Given the description of an element on the screen output the (x, y) to click on. 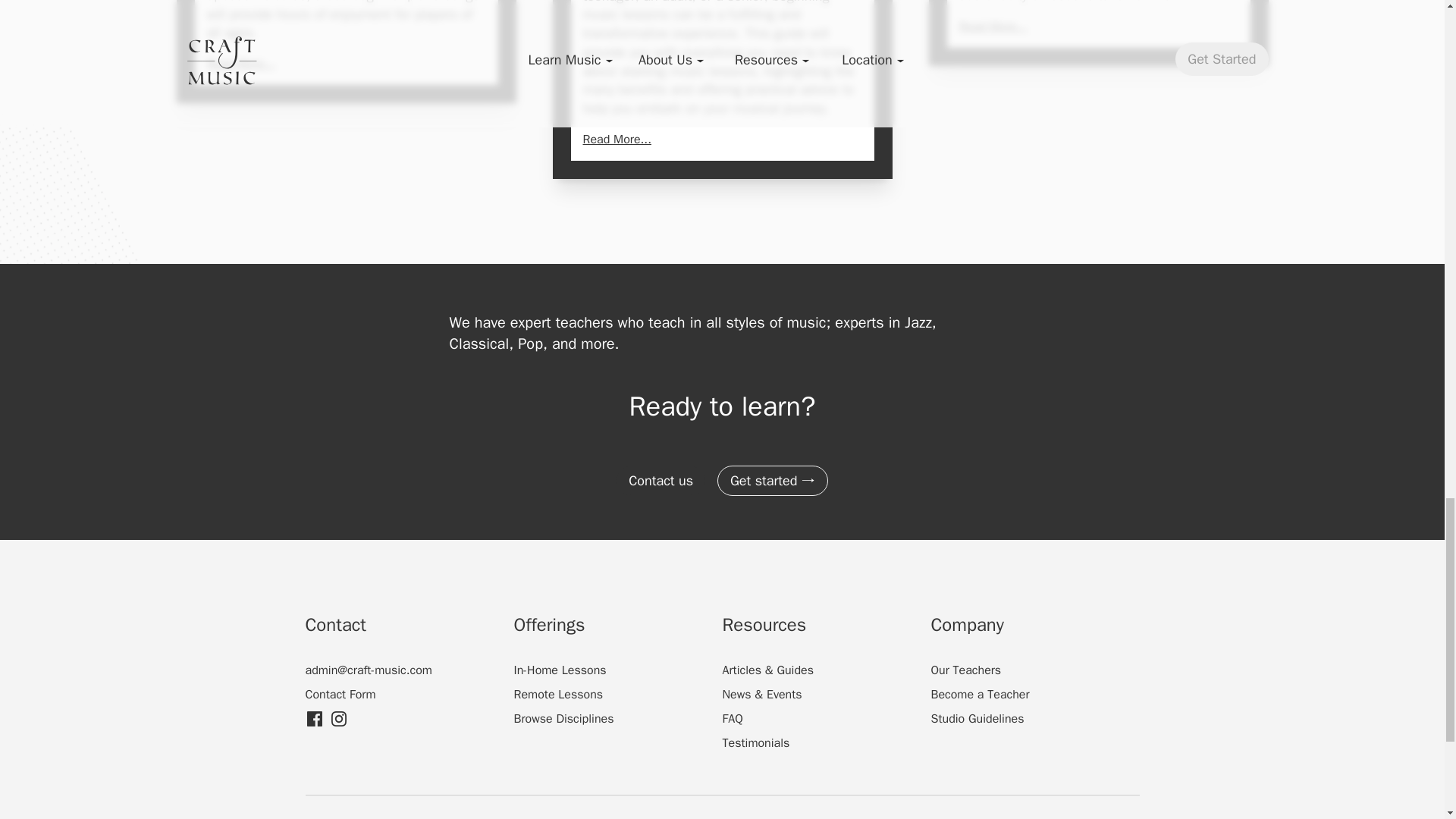
FAQ (732, 718)
Remote Lessons (558, 694)
Become a Teacher (980, 694)
Testimonials (755, 743)
Our Teachers (966, 670)
Contact Form (339, 694)
Browse Disciplines (563, 718)
Contact us (659, 480)
In-Home Lessons (560, 670)
Studio Guidelines (978, 718)
